Given the description of an element on the screen output the (x, y) to click on. 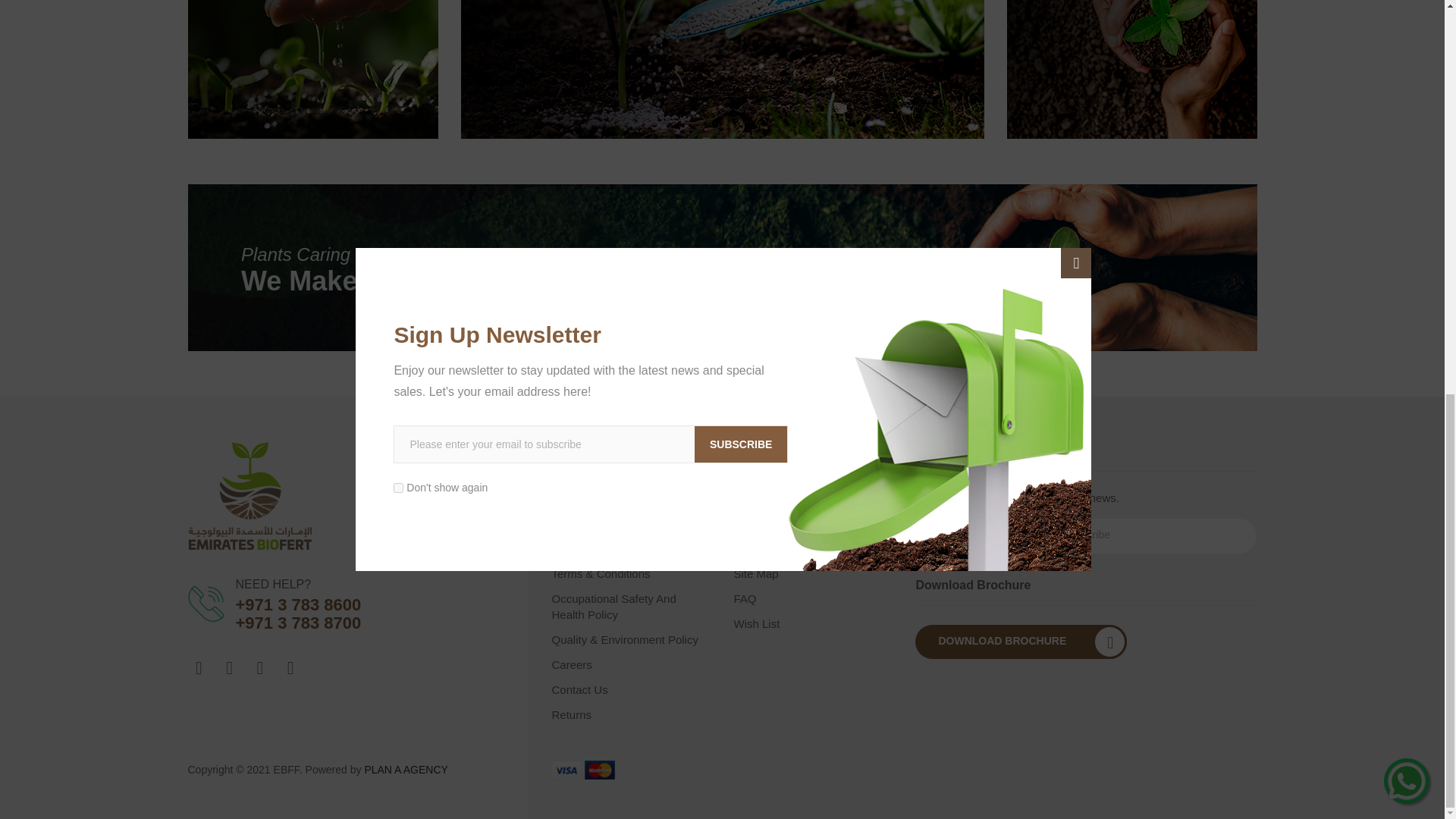
Youtube (290, 668)
Instagram (229, 668)
Linkedin (259, 668)
Facebook (199, 668)
